Given the description of an element on the screen output the (x, y) to click on. 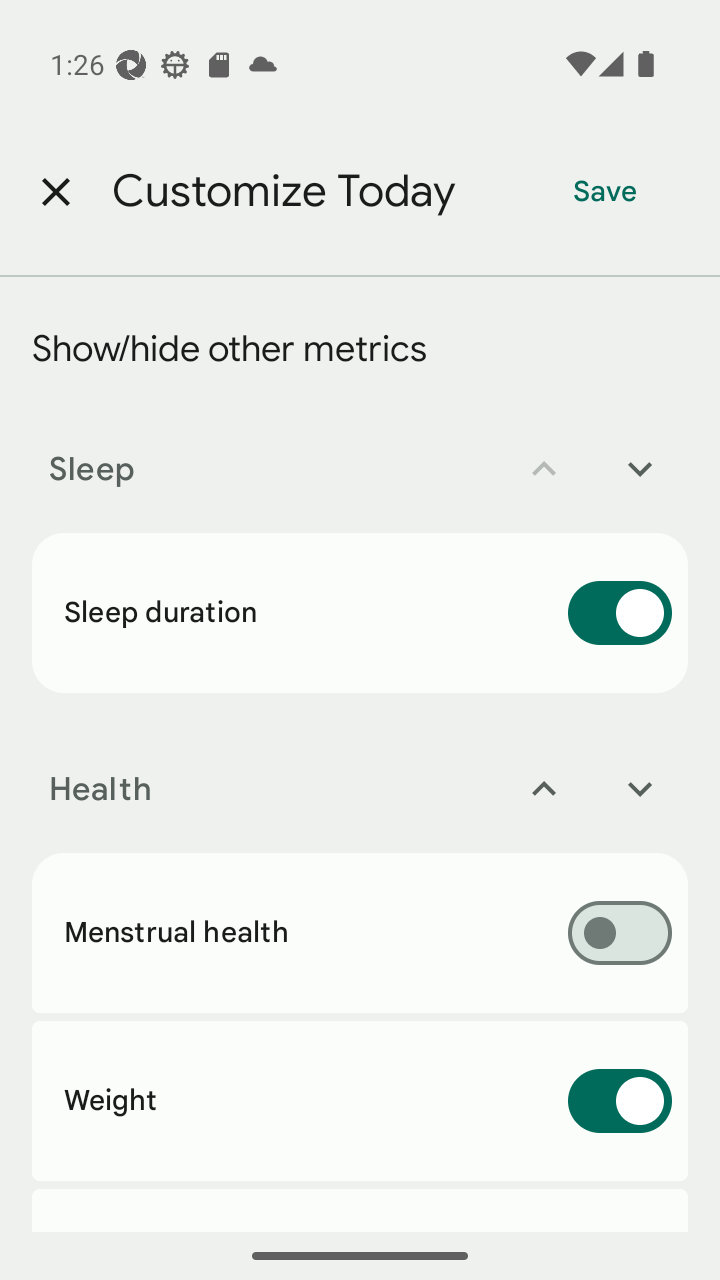
Close (55, 191)
Save (605, 191)
Move Sleep up (543, 469)
Move Sleep down (639, 469)
Sleep duration (359, 612)
Move Health up (543, 789)
Move Health down (639, 789)
Menstrual health (359, 932)
Weight (359, 1101)
